Given the description of an element on the screen output the (x, y) to click on. 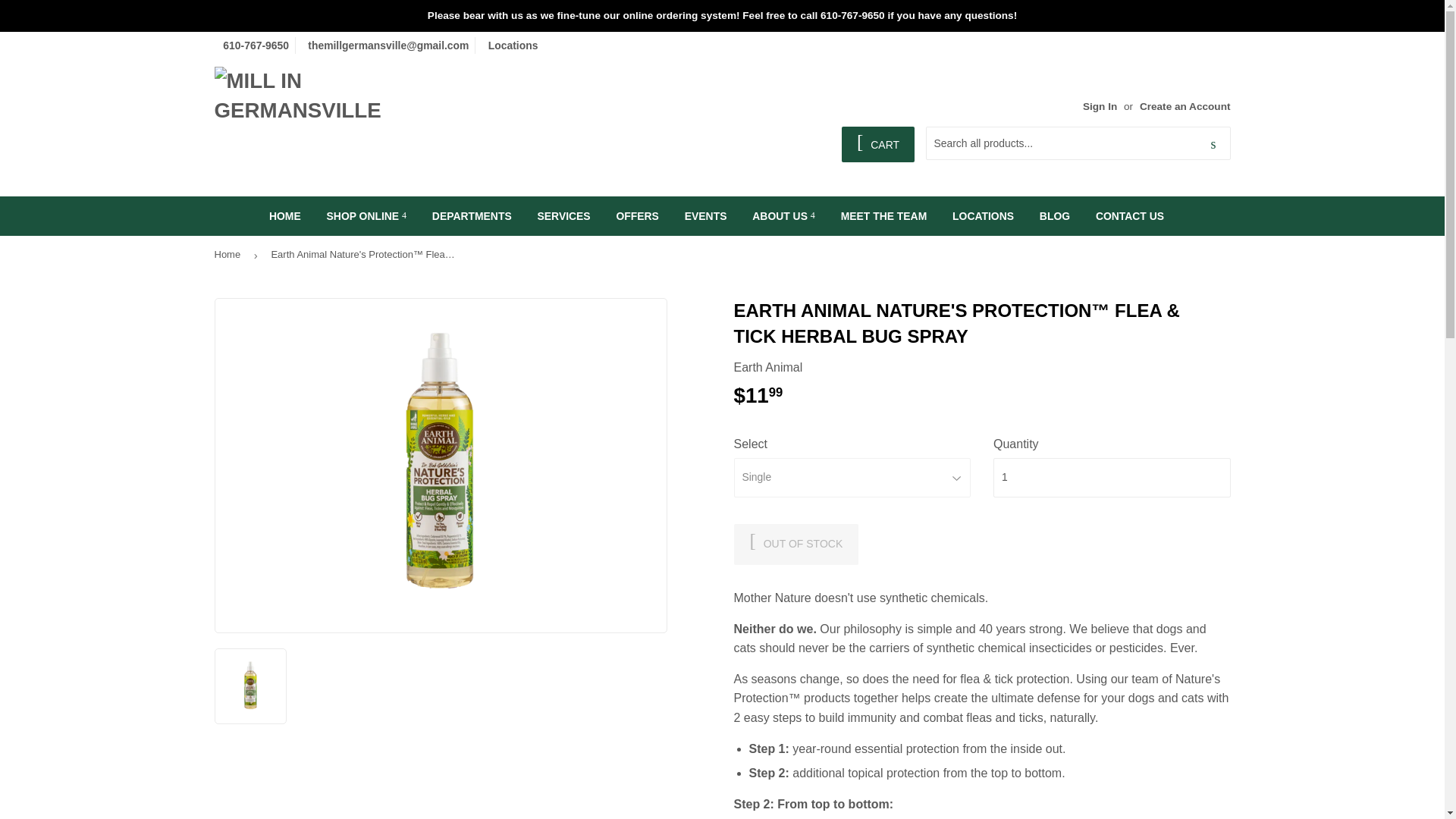
SEARCH (1213, 143)
1 (1111, 477)
Create an Account (1185, 106)
Open Product Zoom (441, 465)
 610-767-9650 (253, 45)
CART (877, 144)
 Locations (511, 45)
Sign In (1099, 106)
